Given the description of an element on the screen output the (x, y) to click on. 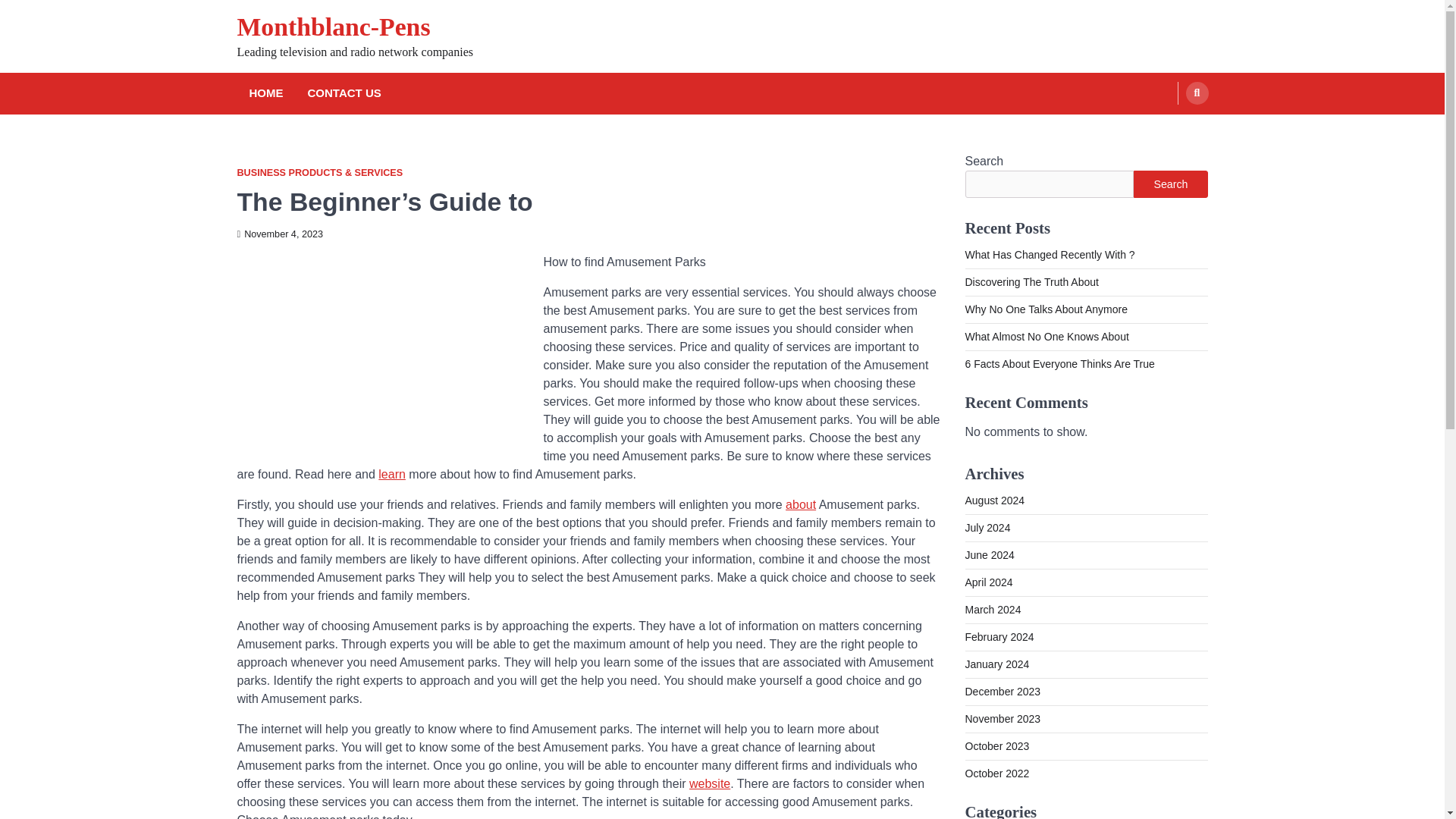
July 2024 (986, 527)
about (800, 504)
November 4, 2023 (279, 234)
Search (1197, 92)
6 Facts About Everyone Thinks Are True (1058, 363)
January 2024 (996, 664)
October 2023 (996, 746)
website (709, 783)
December 2023 (1002, 691)
learn (392, 473)
What Almost No One Knows About (1045, 336)
Search (1168, 128)
November 2023 (1002, 718)
HOME (265, 93)
August 2024 (994, 500)
